Given the description of an element on the screen output the (x, y) to click on. 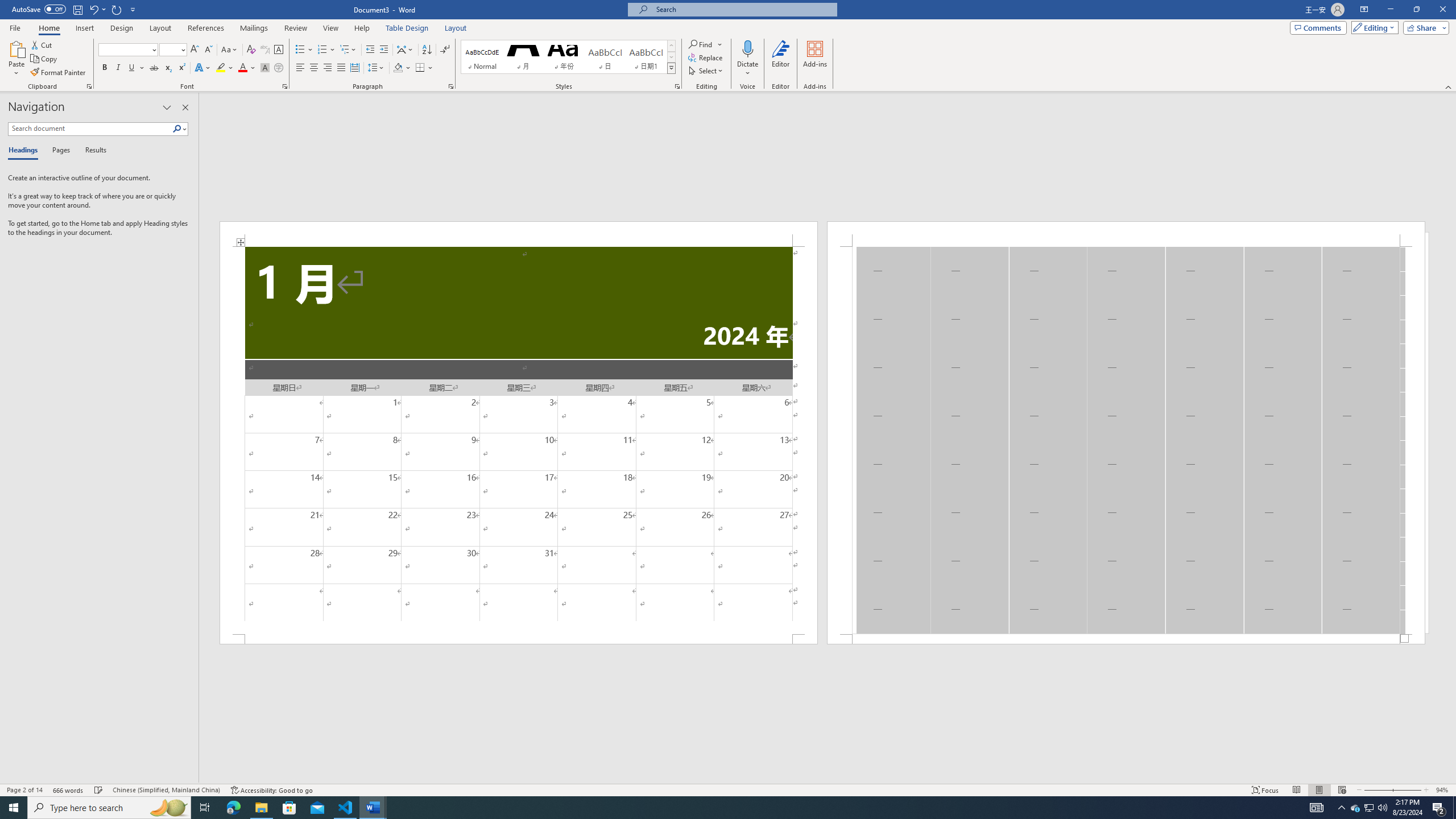
Table Design (407, 28)
Character Border (278, 49)
Align Left (300, 67)
Font Color (246, 67)
Task Pane Options (167, 107)
Distributed (354, 67)
Results (91, 150)
References (205, 28)
Text Effects and Typography (202, 67)
Cut (42, 44)
Asian Layout (405, 49)
View (330, 28)
